Given the description of an element on the screen output the (x, y) to click on. 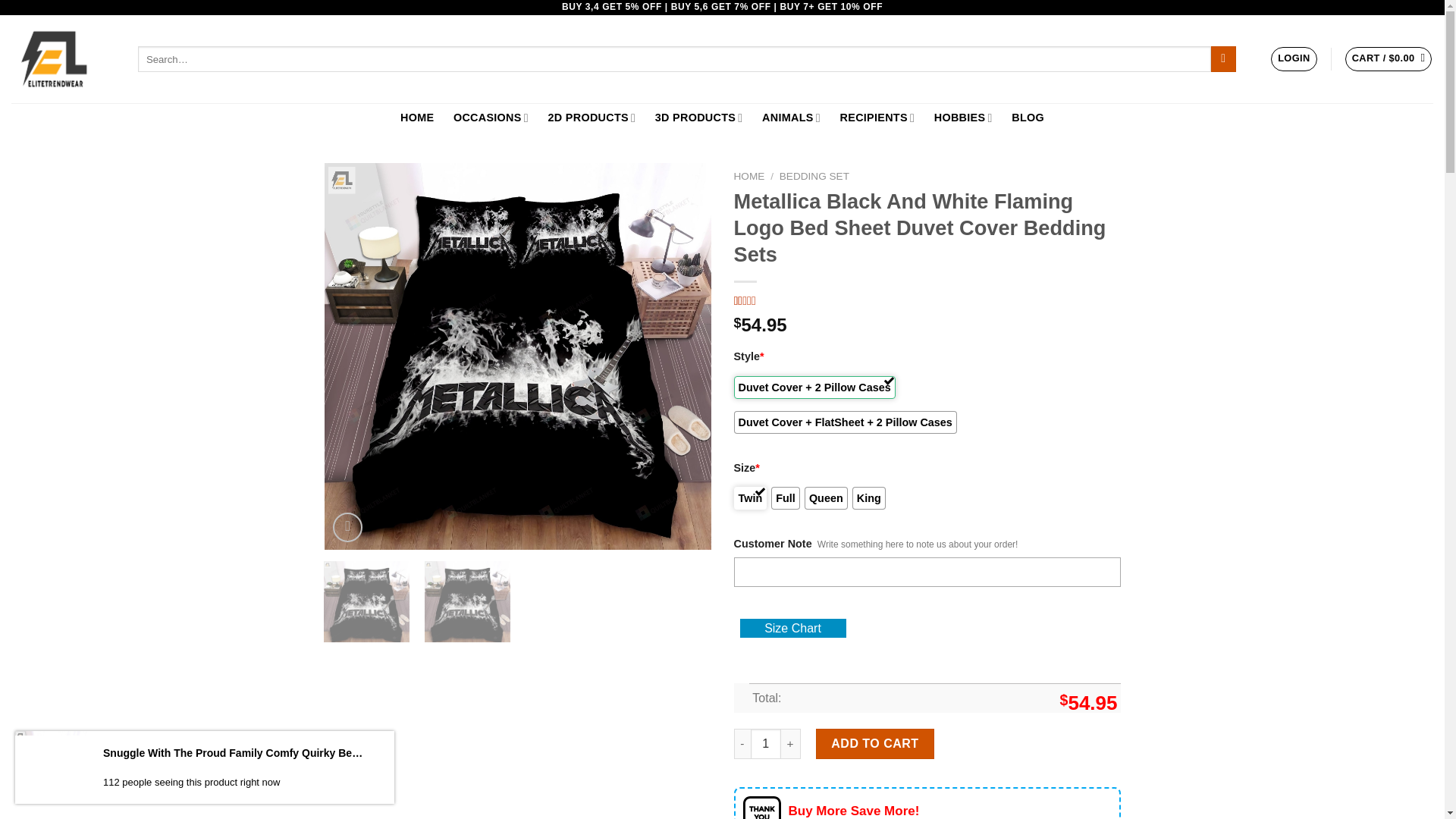
LOGIN (1293, 58)
1 (765, 743)
RECIPIENTS (876, 117)
OCCASIONS (491, 117)
3D PRODUCTS (698, 117)
2D PRODUCTS (591, 117)
Cart (1388, 58)
Search (1223, 58)
HOME (417, 117)
Zoom (347, 527)
ANIMALS (790, 117)
Elitetrendwear (63, 59)
